Given the description of an element on the screen output the (x, y) to click on. 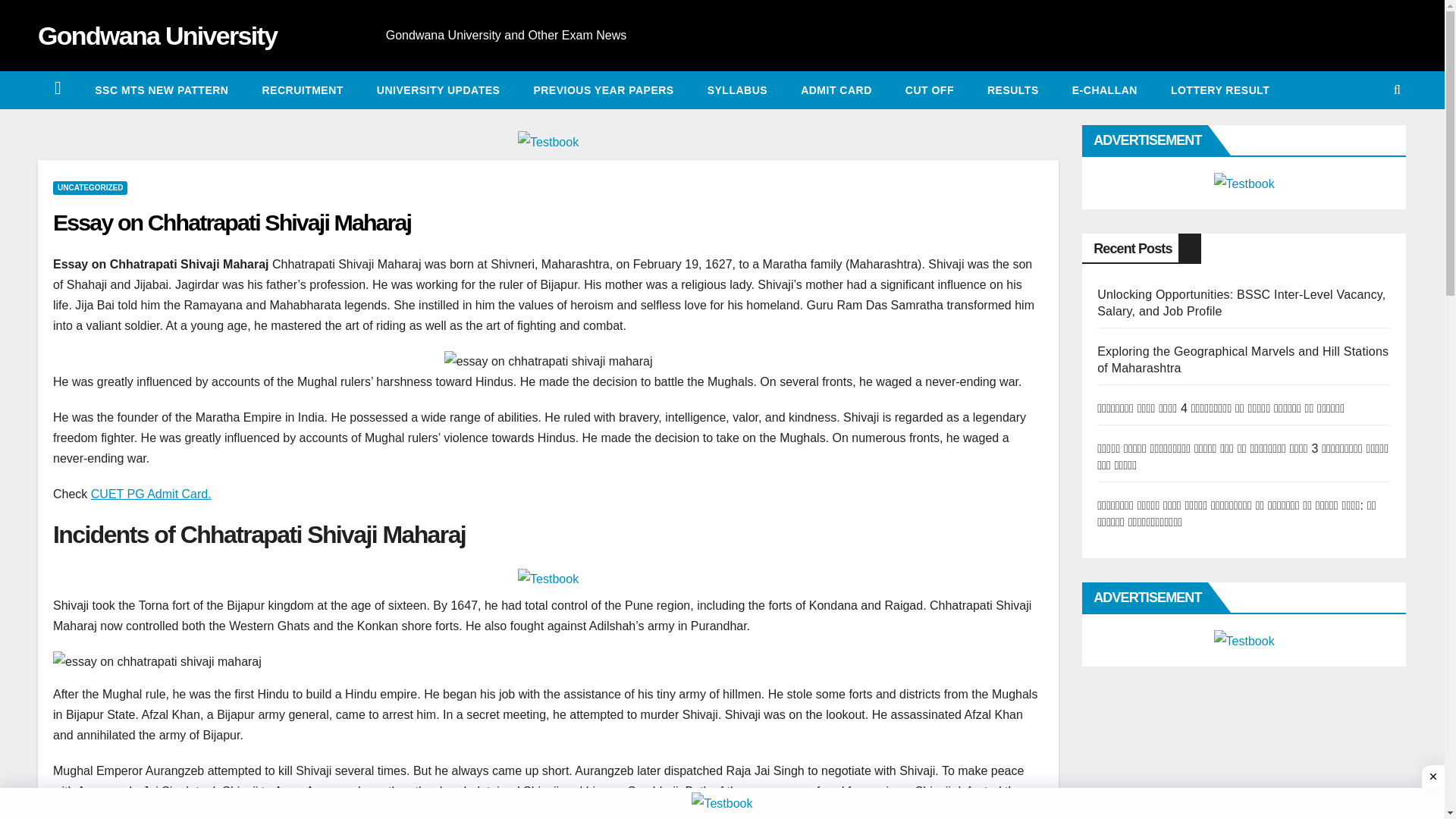
RESULTS (1013, 89)
Previous Year Papers (603, 89)
SYLLABUS (737, 89)
University Updates (437, 89)
PREVIOUS YEAR PAPERS (603, 89)
Gondwana University (156, 35)
E-Challan (1104, 89)
Permalink to: Essay on Chhatrapati Shivaji Maharaj (231, 222)
Syllabus (737, 89)
ADMIT CARD (836, 89)
UNCATEGORIZED (90, 187)
SSC MTS NEW PATTERN (161, 89)
RECRUITMENT (301, 89)
UNIVERSITY UPDATES (437, 89)
CUET PG Admit Card. (150, 493)
